Given the description of an element on the screen output the (x, y) to click on. 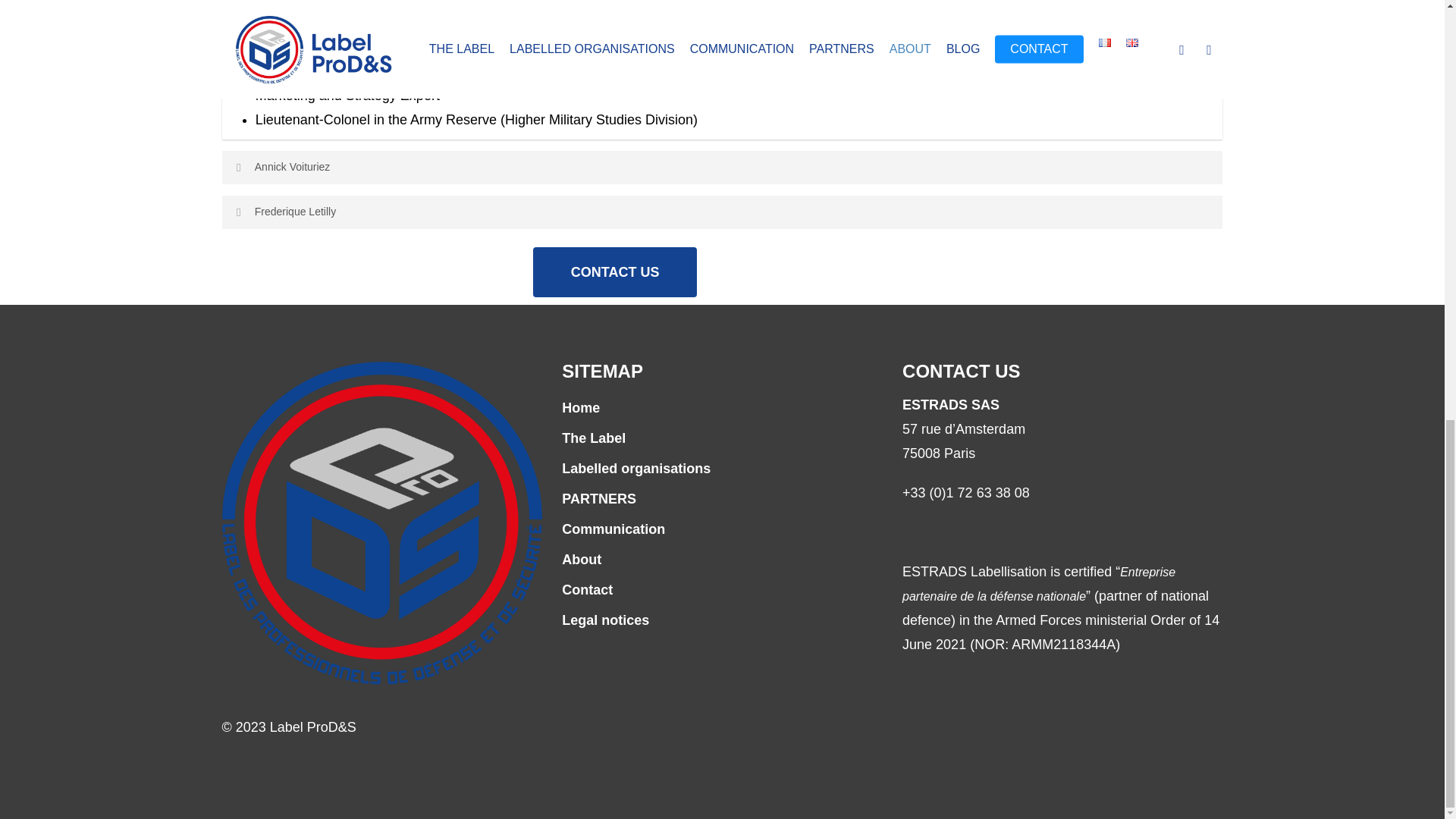
PARTNERS (722, 498)
Contact (722, 589)
Frederique Letilly (722, 212)
Annick Voituriez (722, 167)
Legal notices (722, 620)
CONTACT US (614, 272)
Communication (722, 528)
The Label (722, 437)
Home (722, 407)
Labelled organisations (722, 468)
About (722, 559)
